Given the description of an element on the screen output the (x, y) to click on. 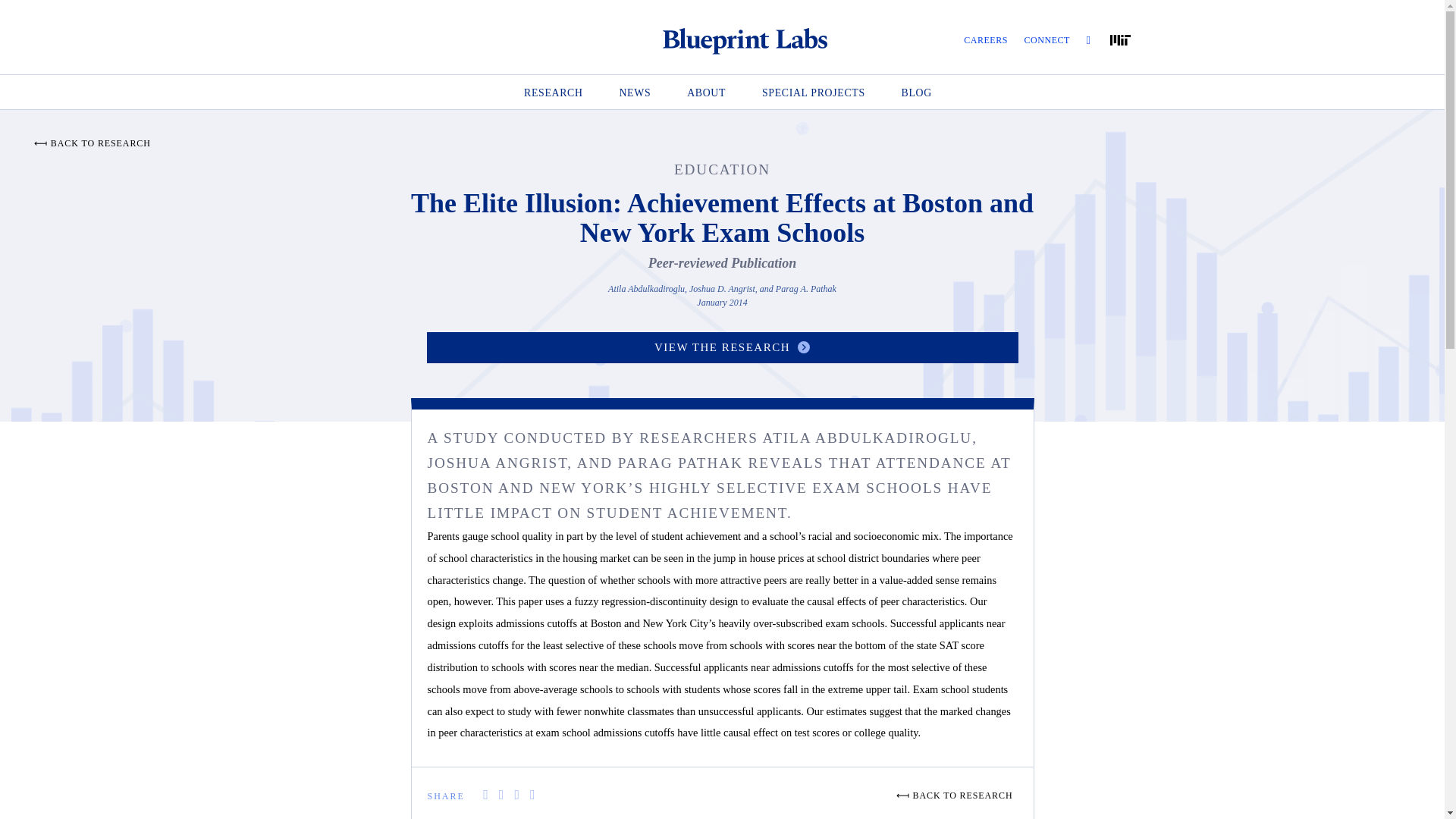
RESEARCH (553, 92)
CONNECT (1047, 40)
CAREERS (985, 40)
NEWS (634, 92)
MIT (1120, 40)
